Given the description of an element on the screen output the (x, y) to click on. 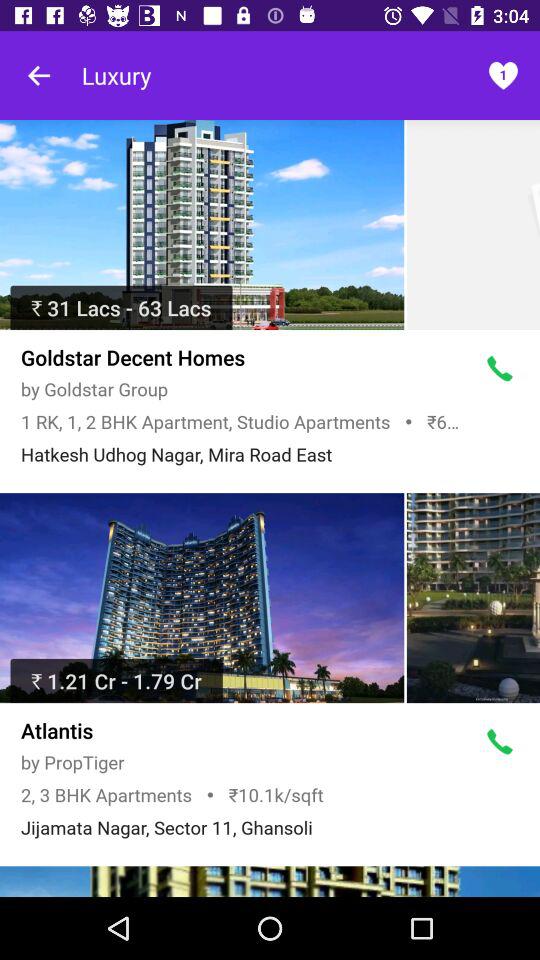
link to more images (270, 881)
